Given the description of an element on the screen output the (x, y) to click on. 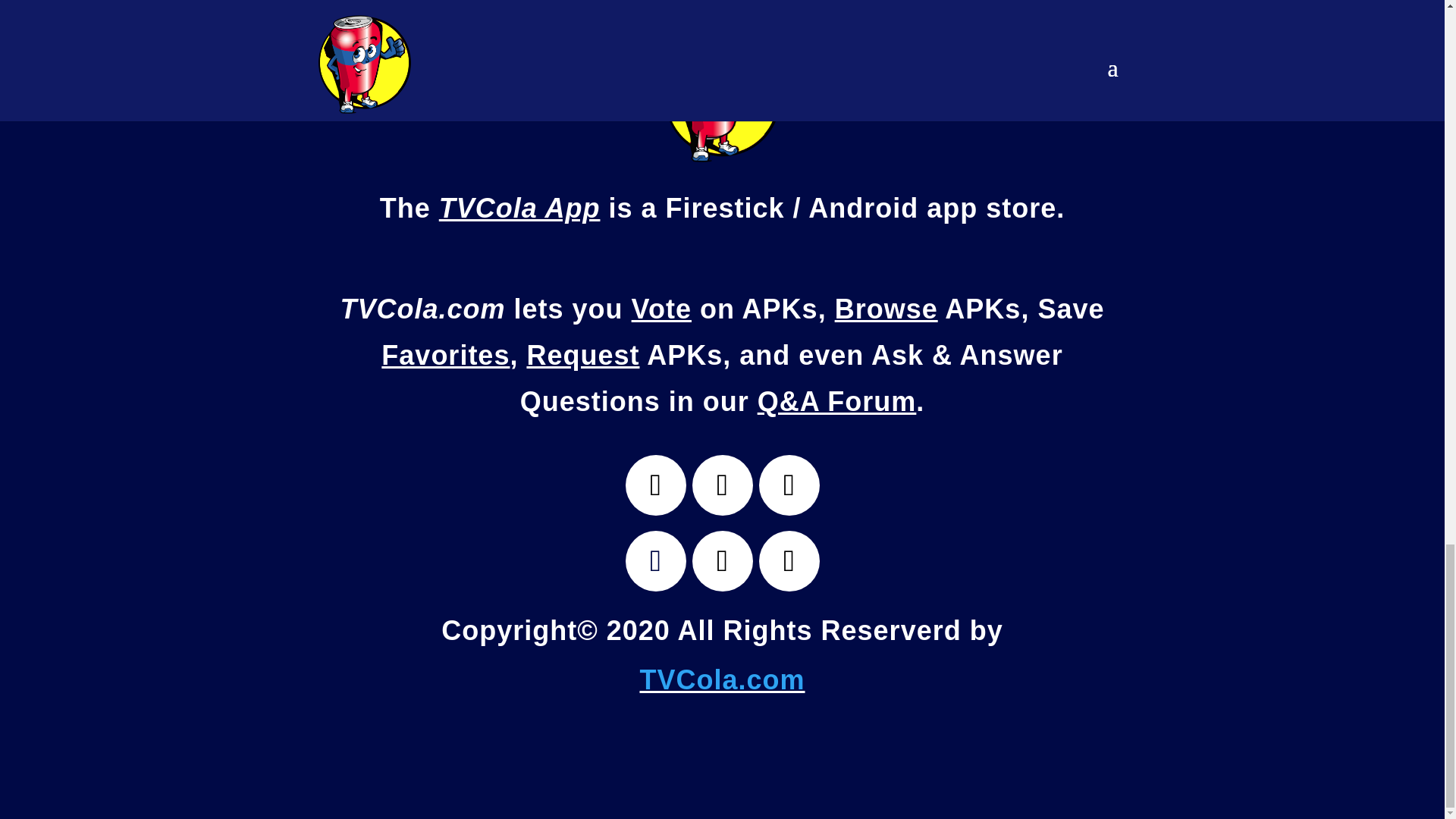
Follow on Twitter (654, 485)
Follow on Instagram (654, 560)
Follow on tumblr (721, 560)
Follow on Facebook (721, 485)
Follow on Youtube (788, 485)
Follow on Pinterest (788, 560)
